Given the description of an element on the screen output the (x, y) to click on. 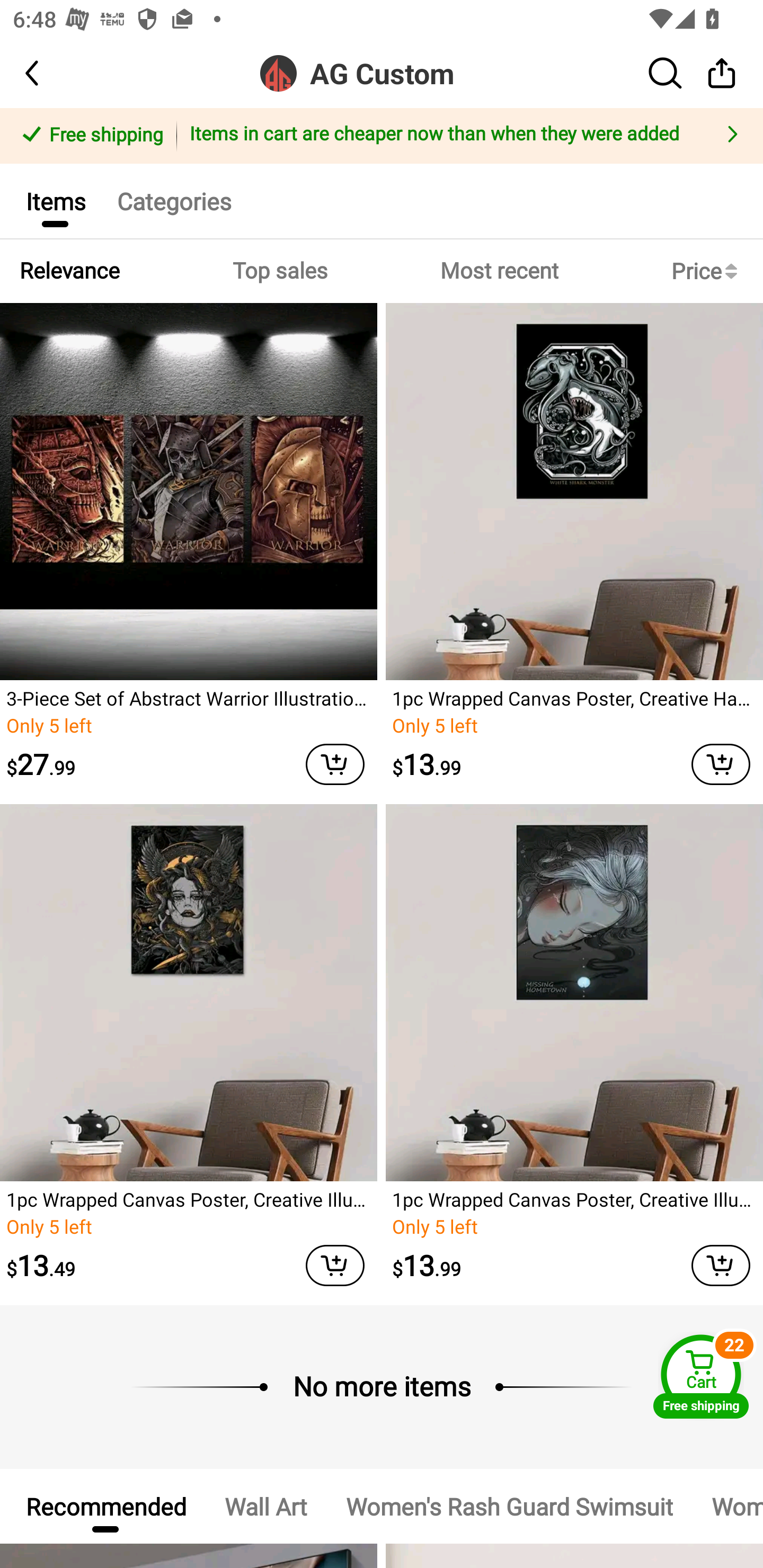
back (47, 72)
AG Custom (381, 72)
share (721, 72)
 Free shipping (91, 135)
Items (55, 200)
Categories (174, 200)
Relevance (69, 270)
Top sales (279, 270)
Most recent (498, 270)
Price (707, 270)
cart delete (334, 764)
cart delete (720, 764)
cart delete (334, 1264)
cart delete (720, 1264)
Cart Free shipping Cart (701, 1375)
Recommended (105, 1505)
Wall Art (265, 1505)
Women's Rash Guard Swimsuit (509, 1505)
